Given the description of an element on the screen output the (x, y) to click on. 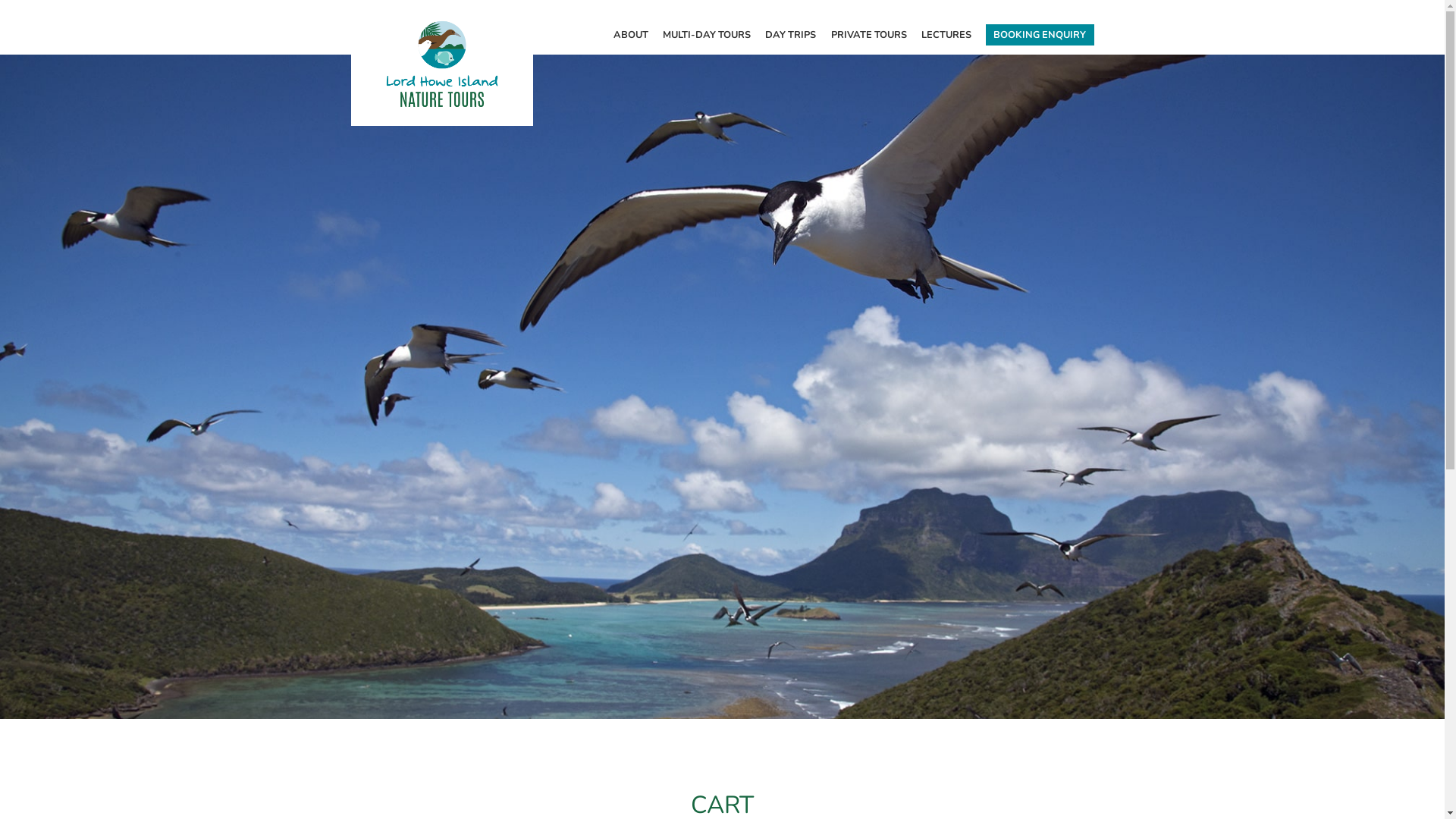
DAY TRIPS Element type: text (790, 39)
LECTURES Element type: text (946, 39)
PRIVATE TOURS Element type: text (869, 39)
BOOKING ENQUIRY Element type: text (1039, 34)
MULTI-DAY TOURS Element type: text (706, 39)
ABOUT Element type: text (630, 39)
